Given the description of an element on the screen output the (x, y) to click on. 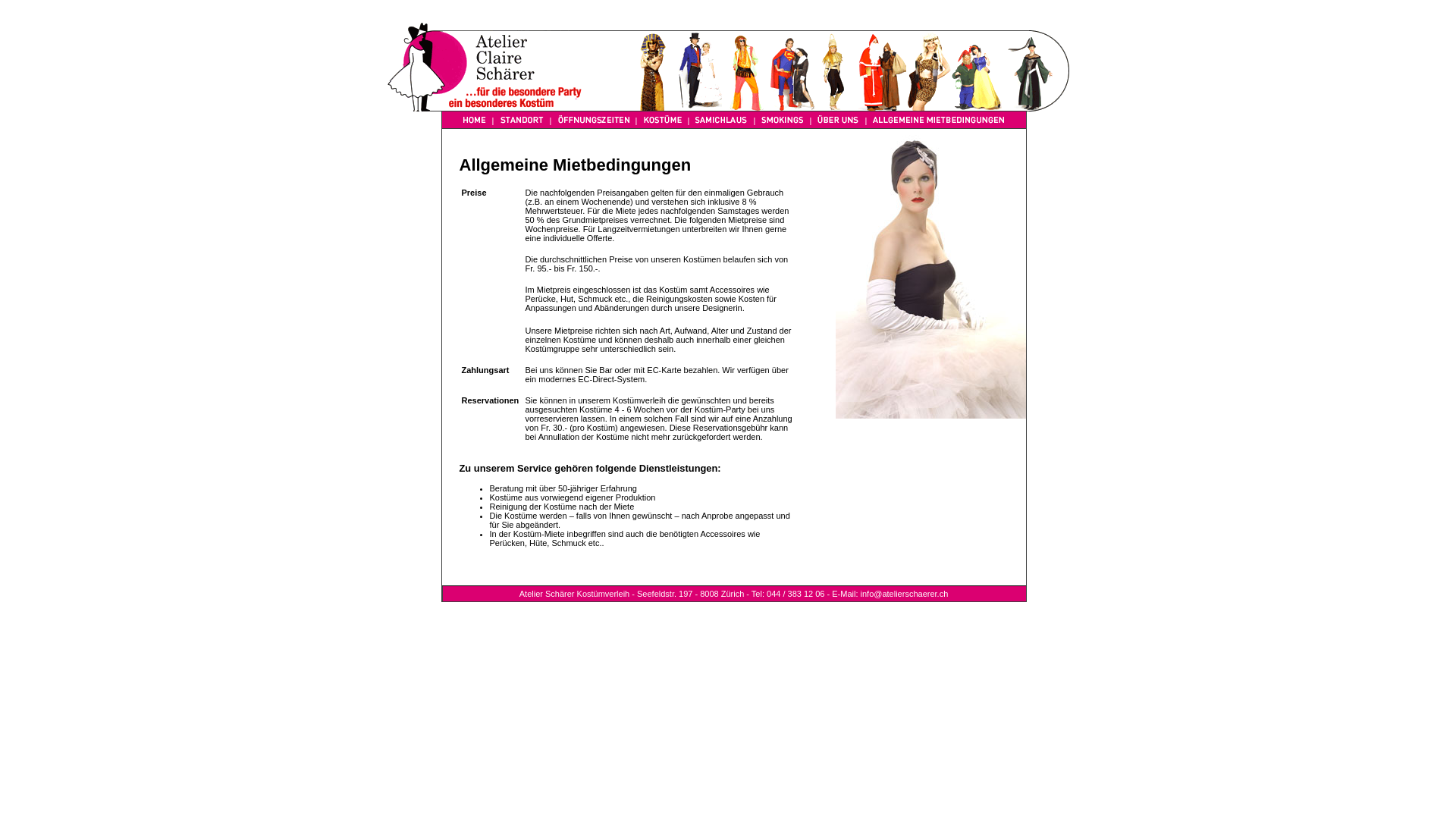
info@atelierschaerer.ch Element type: text (904, 593)
